Given the description of an element on the screen output the (x, y) to click on. 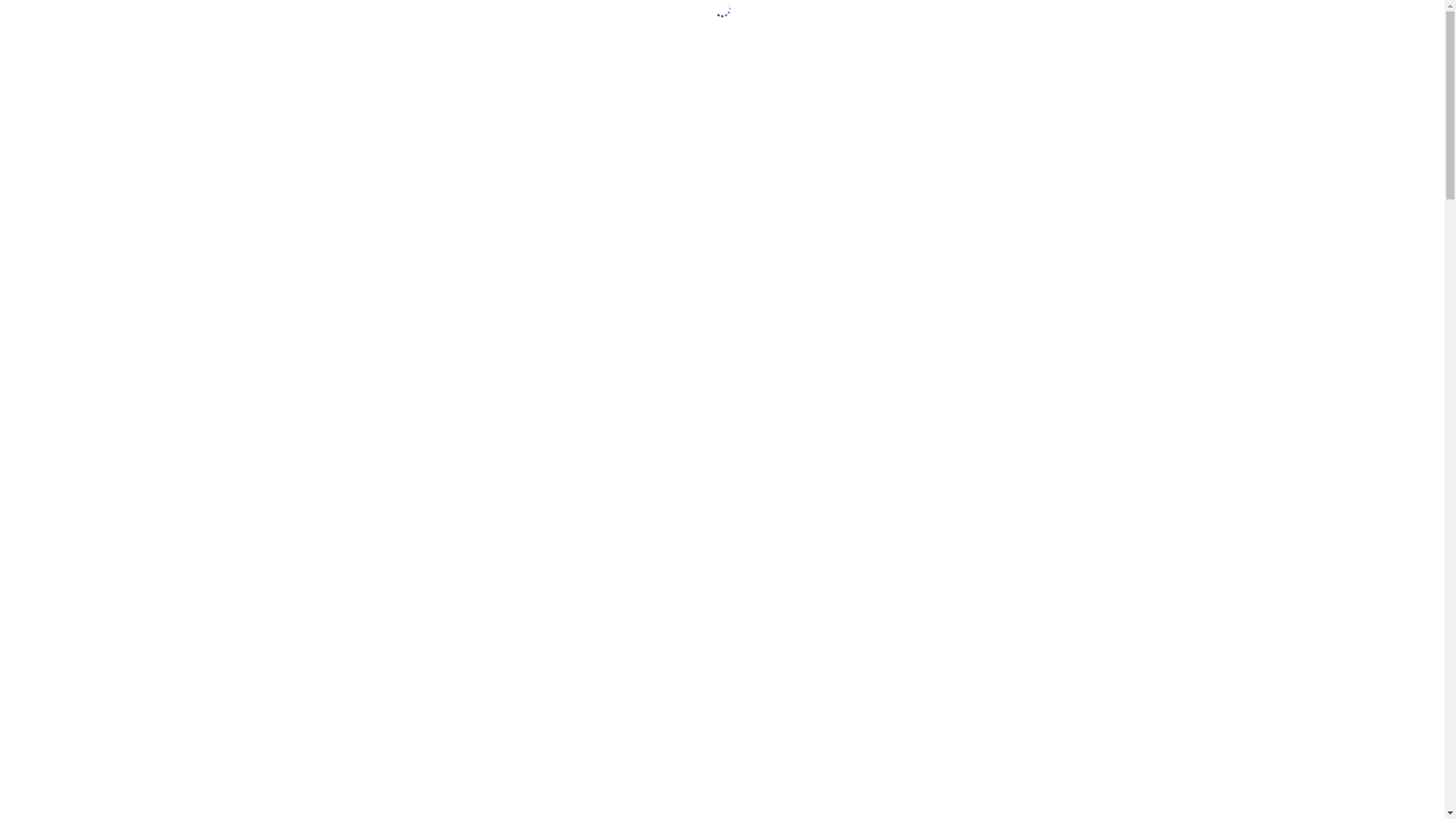
+375 236 23-82-65 Element type: text (74, 575)
parohodstvo@tut.by Element type: text (203, 575)
